Given the description of an element on the screen output the (x, y) to click on. 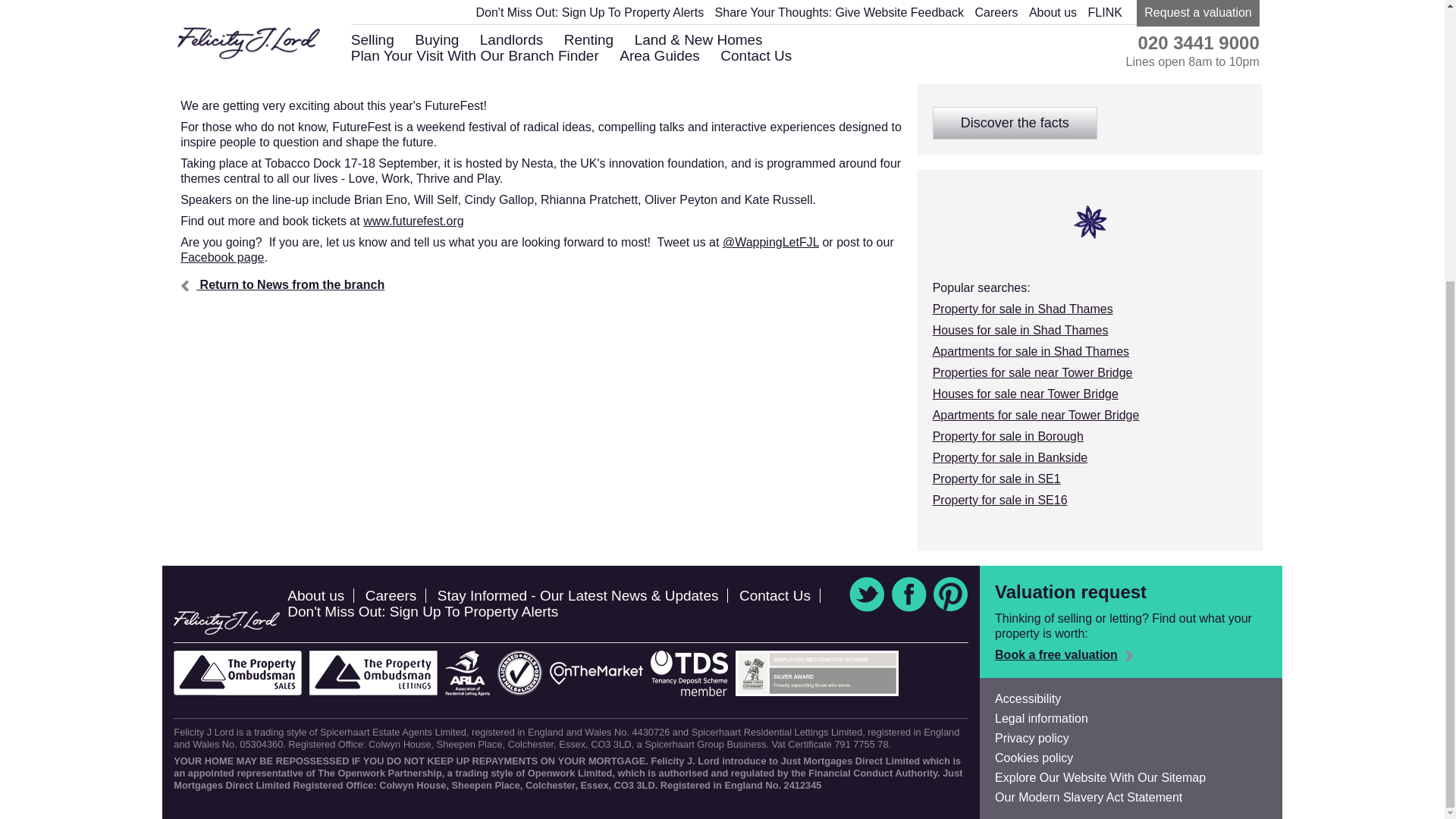
Facebook page (221, 256)
Apartments for sale in Shad Thames (1031, 350)
Houses for sale in Shad Thames (1020, 329)
Discover the facts (1015, 123)
Property for sale in Shad Thames (1023, 308)
www.futurefest.org (413, 220)
Return to News from the branch (282, 284)
FJL icons (1090, 222)
Houses for sale near Tower Bridge (1025, 393)
Properties for sale near Tower Bridge (1032, 372)
